Given the description of an element on the screen output the (x, y) to click on. 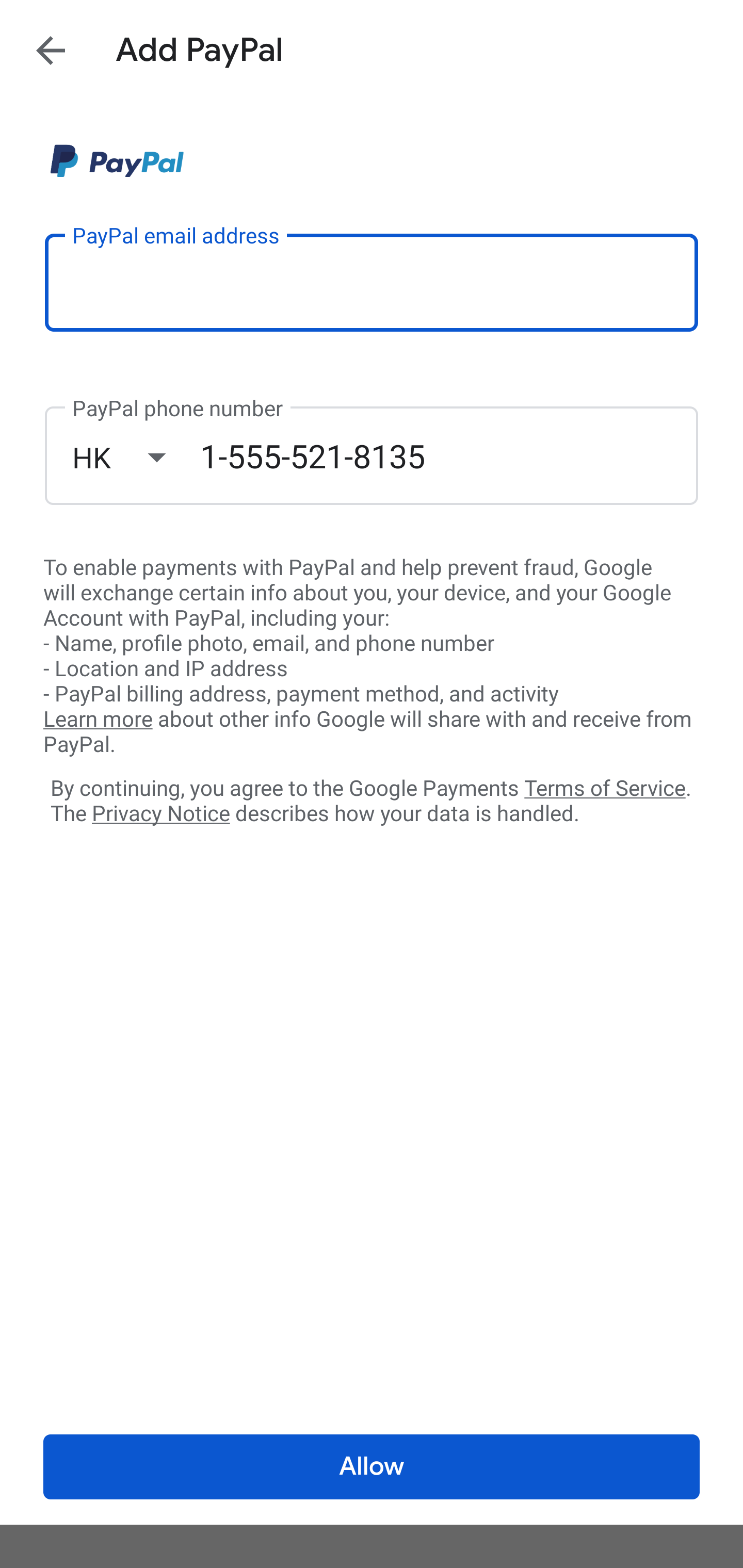
Navigate up (50, 50)
PayPal email address (371, 282)
HK (135, 456)
Learn more (97, 719)
Terms of Service (604, 787)
Privacy Notice (160, 814)
Allow (371, 1466)
